Given the description of an element on the screen output the (x, y) to click on. 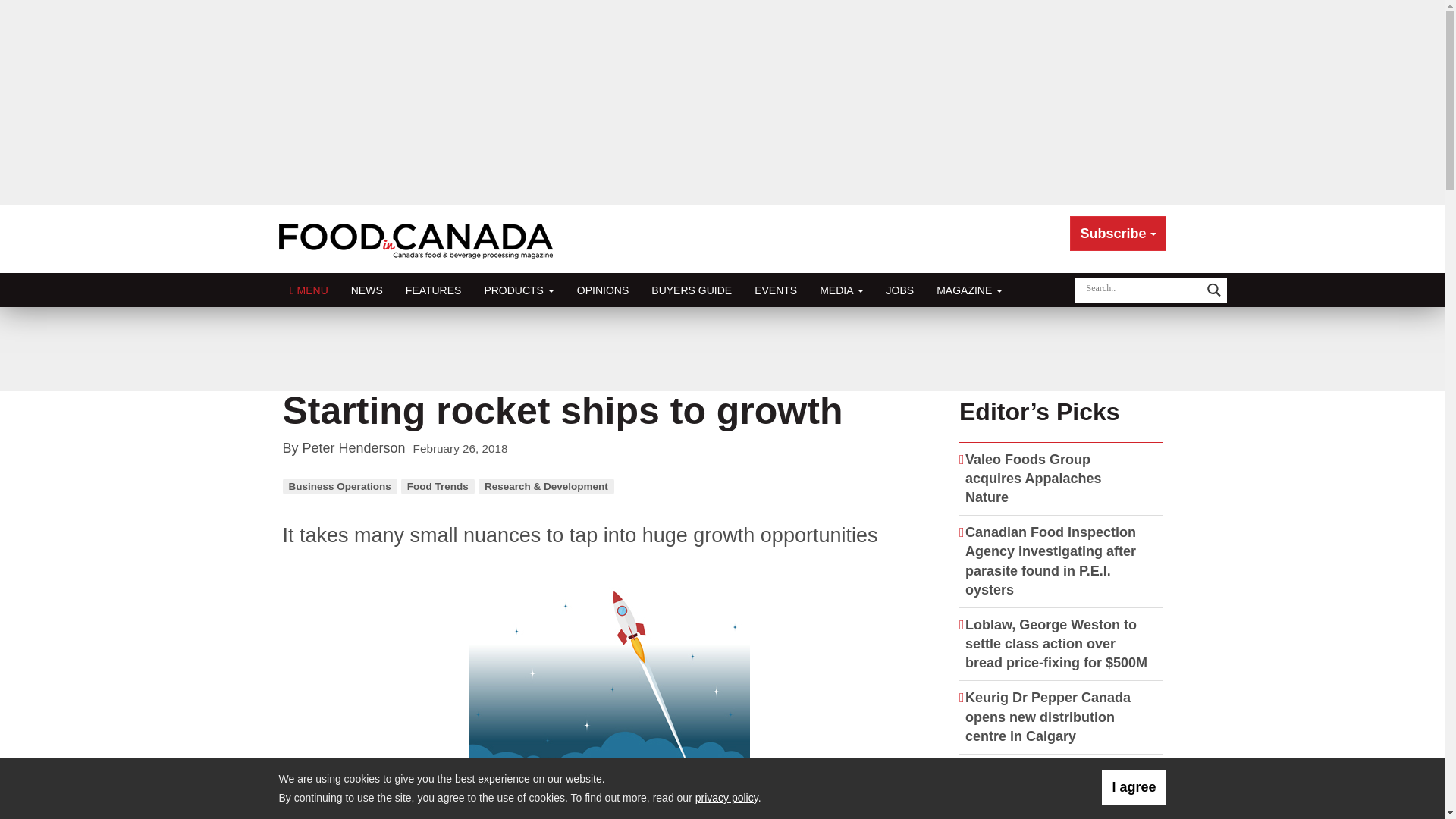
FEATURES (433, 289)
Subscribe (1118, 233)
Click to show site navigation (309, 289)
NEWS (366, 289)
3rd party ad content (721, 348)
MENU (309, 289)
MAGAZINE (968, 289)
MEDIA (841, 289)
EVENTS (775, 289)
OPINIONS (603, 289)
BUYERS GUIDE (691, 289)
Food In Canada (419, 237)
PRODUCTS (517, 289)
JOBS (900, 289)
